Given the description of an element on the screen output the (x, y) to click on. 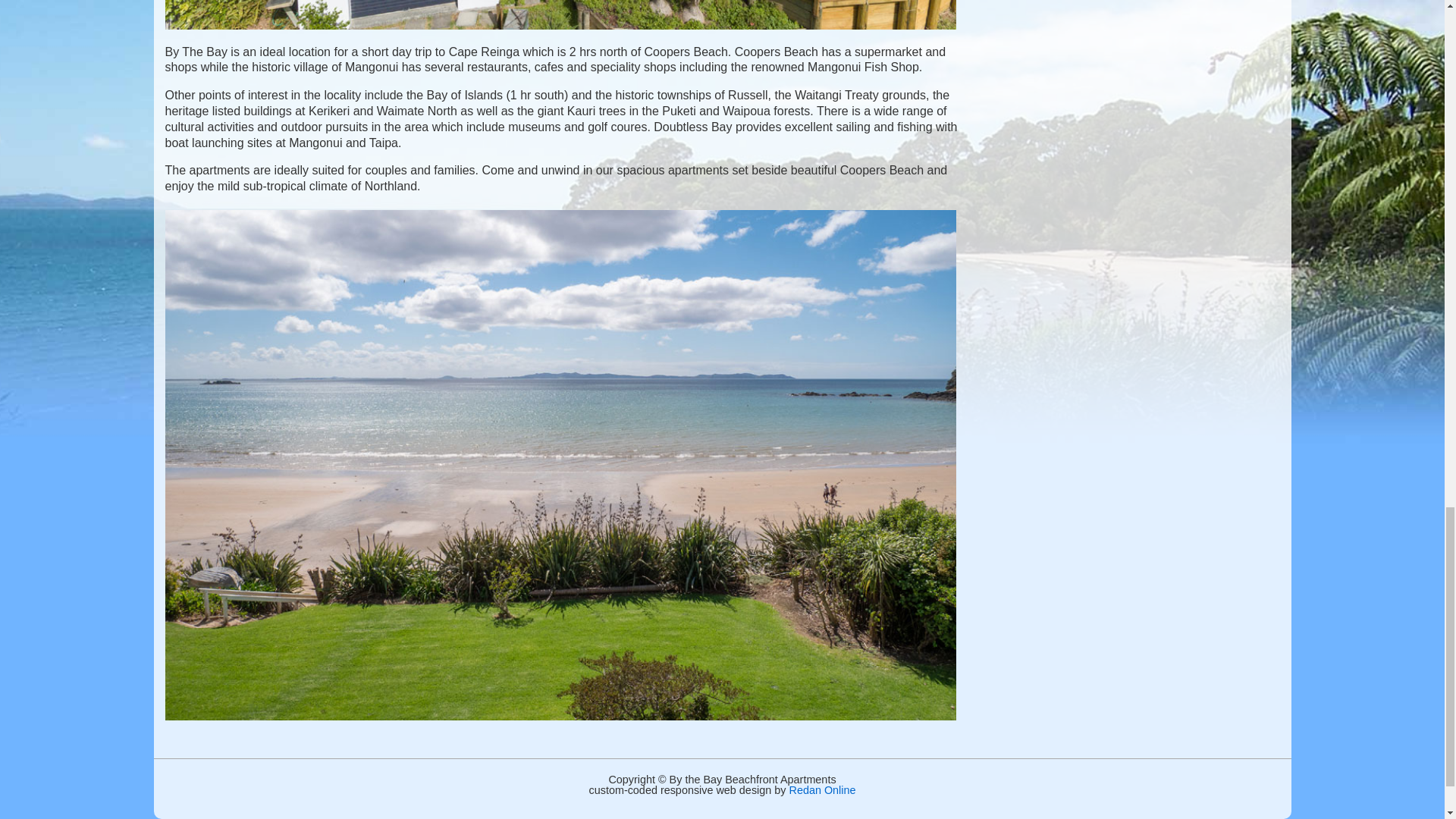
By the Bay Beachfront Accommodation (560, 14)
Redan Online (822, 789)
